Given the description of an element on the screen output the (x, y) to click on. 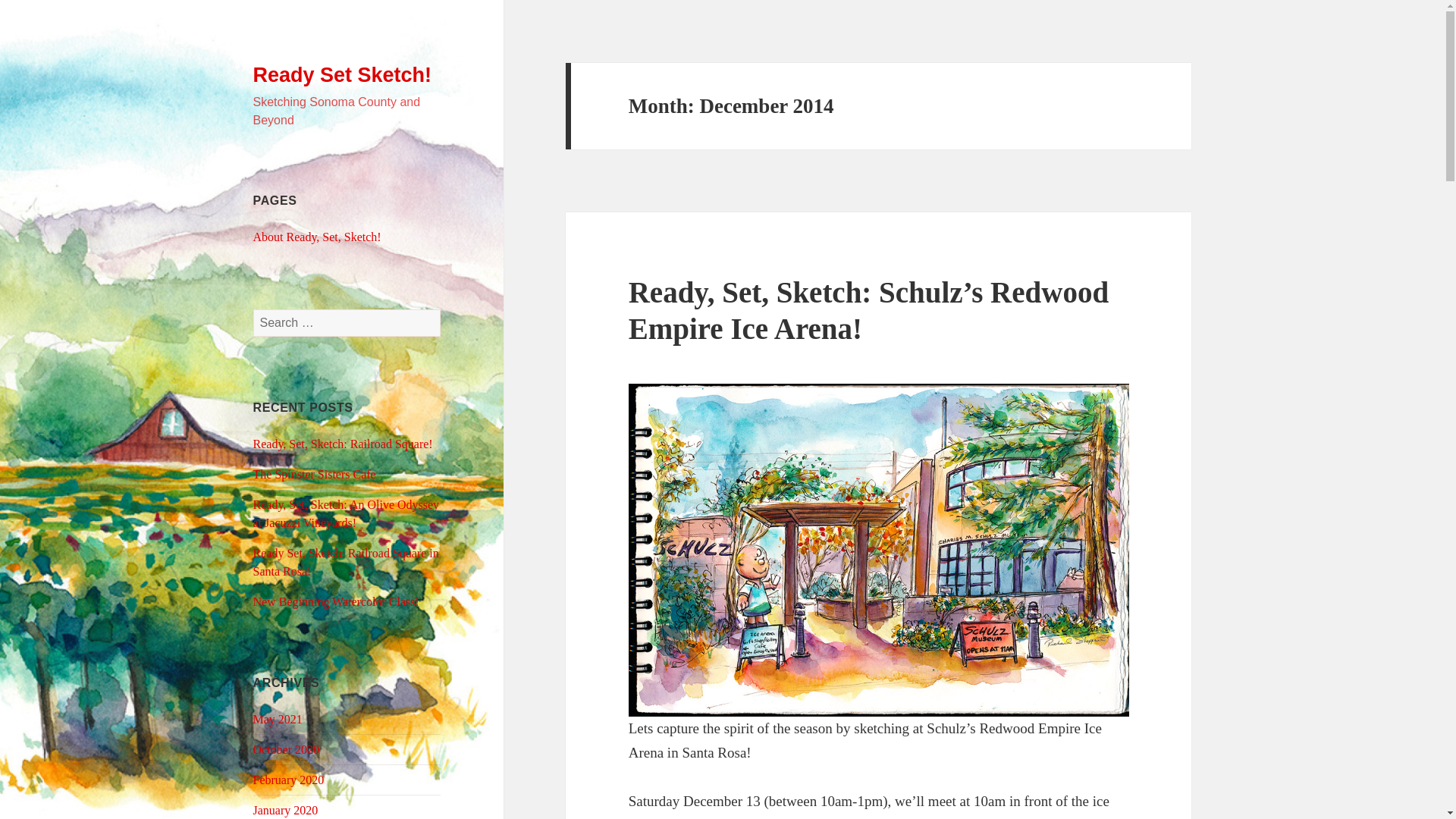
About Ready, Set, Sketch! (317, 236)
Ready Set, Sketch: Railroad Square in Santa Rosa! (346, 562)
Ready Set Sketch! (342, 74)
Ready, Set, Sketch: Railroad Square! (342, 443)
May 2021 (277, 718)
January 2020 (285, 809)
October 2020 (286, 748)
New Beginning Watercolor Class! (336, 601)
The Spinster Sisters Cafe (314, 473)
February 2020 (288, 779)
Ready, Set, Sketch: An Olive Odyssey at Jacuzzi Vineyards! (346, 513)
